Given the description of an element on the screen output the (x, y) to click on. 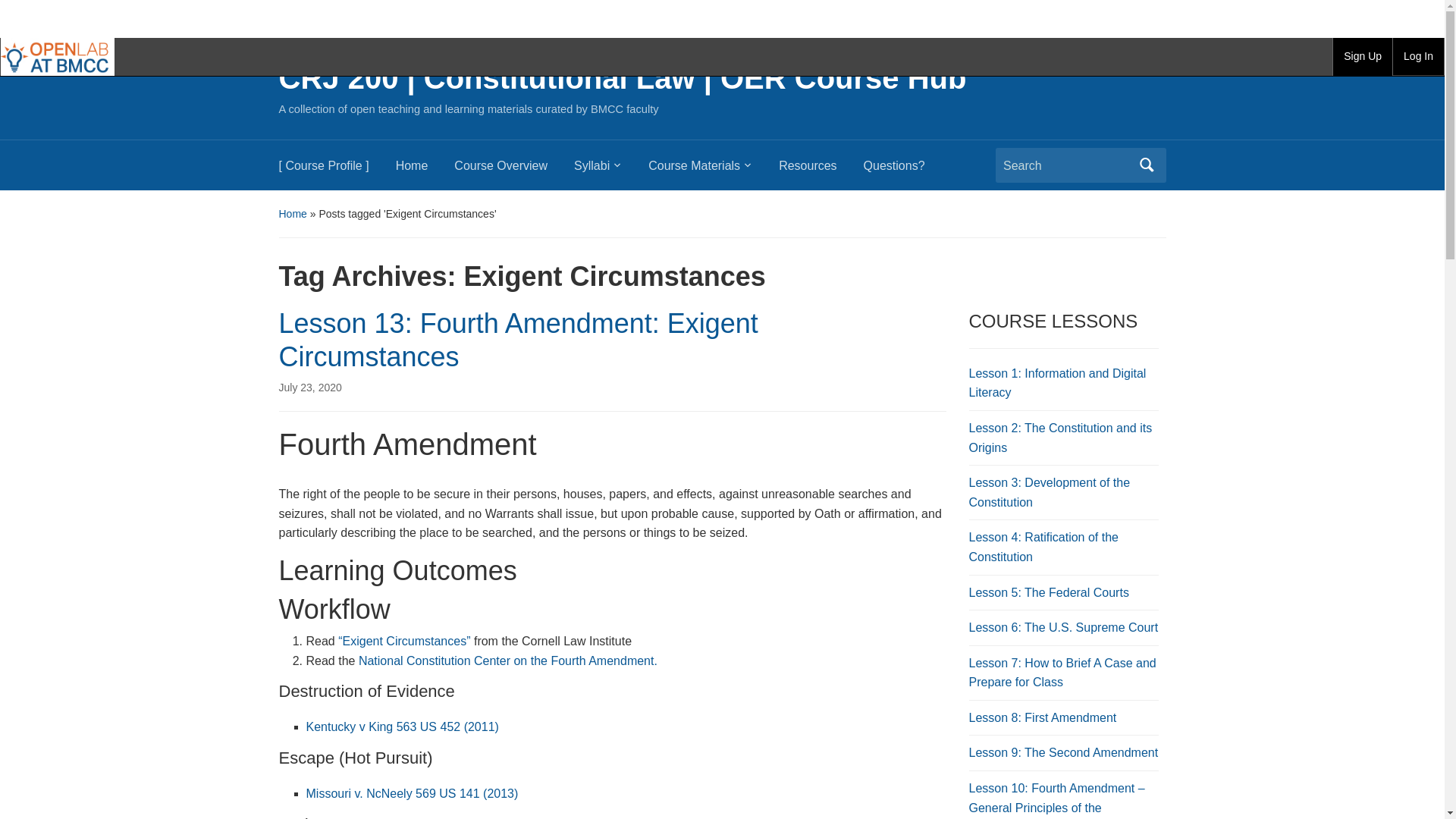
BMCC OpenLab (58, 56)
Sign Up (1362, 56)
